Given the description of an element on the screen output the (x, y) to click on. 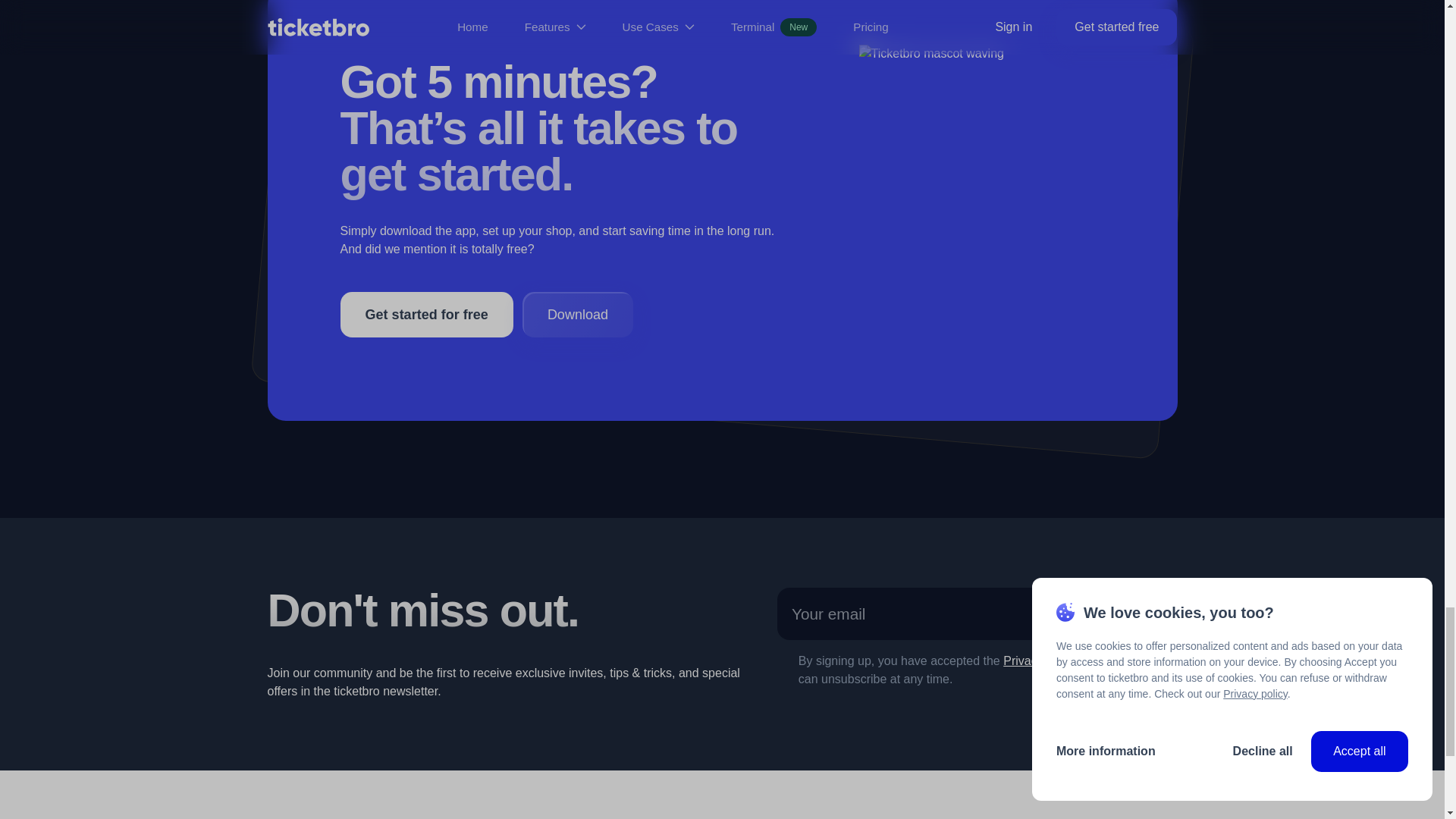
Download (577, 314)
Sign up (1123, 613)
Privacy Policy (1040, 660)
Sign up (1123, 613)
Get started for free (425, 314)
